Given the description of an element on the screen output the (x, y) to click on. 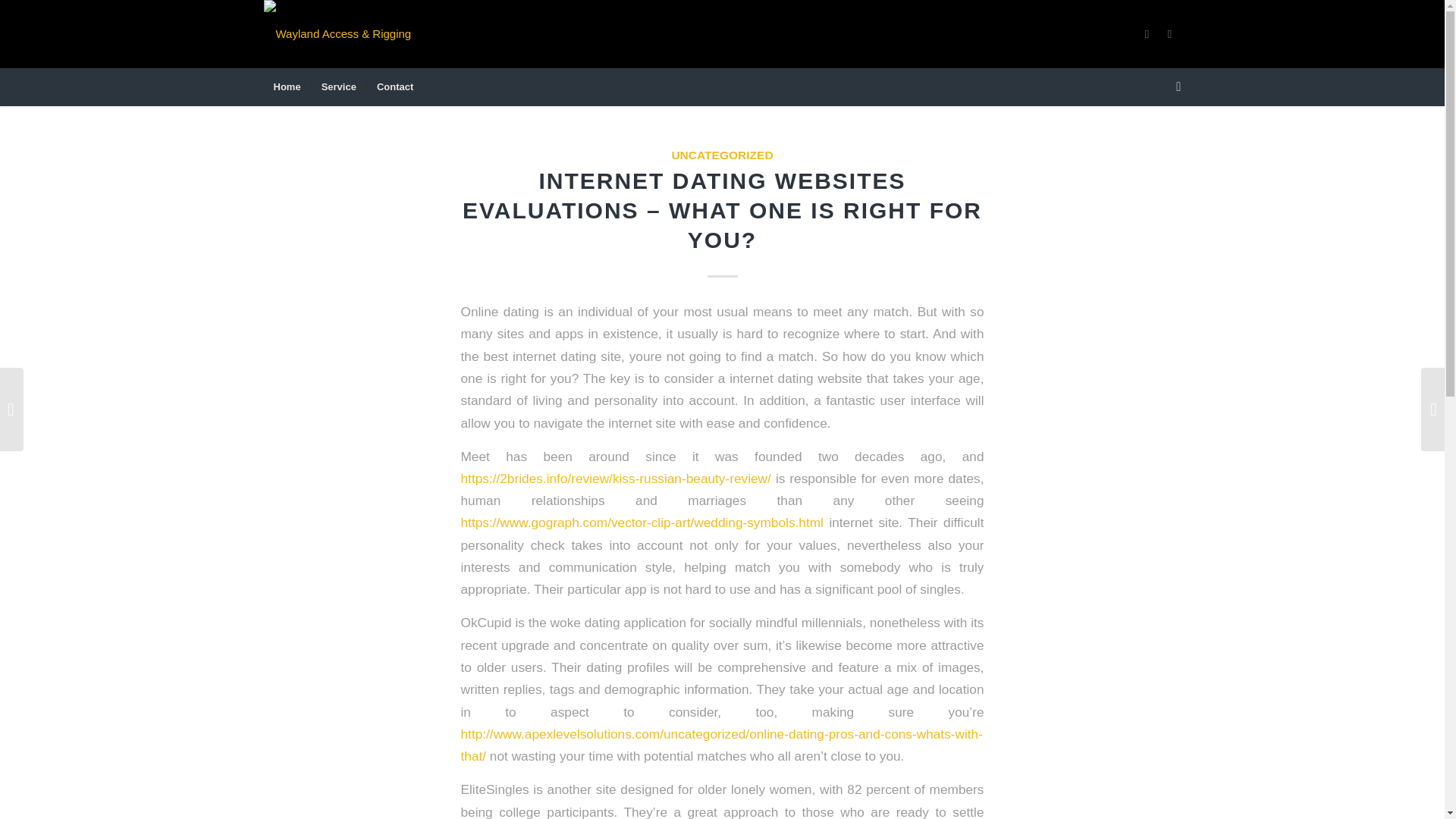
UNCATEGORIZED (722, 154)
Facebook (1146, 33)
Service (338, 86)
Contact (394, 86)
Instagram (1169, 33)
Home (287, 86)
